Given the description of an element on the screen output the (x, y) to click on. 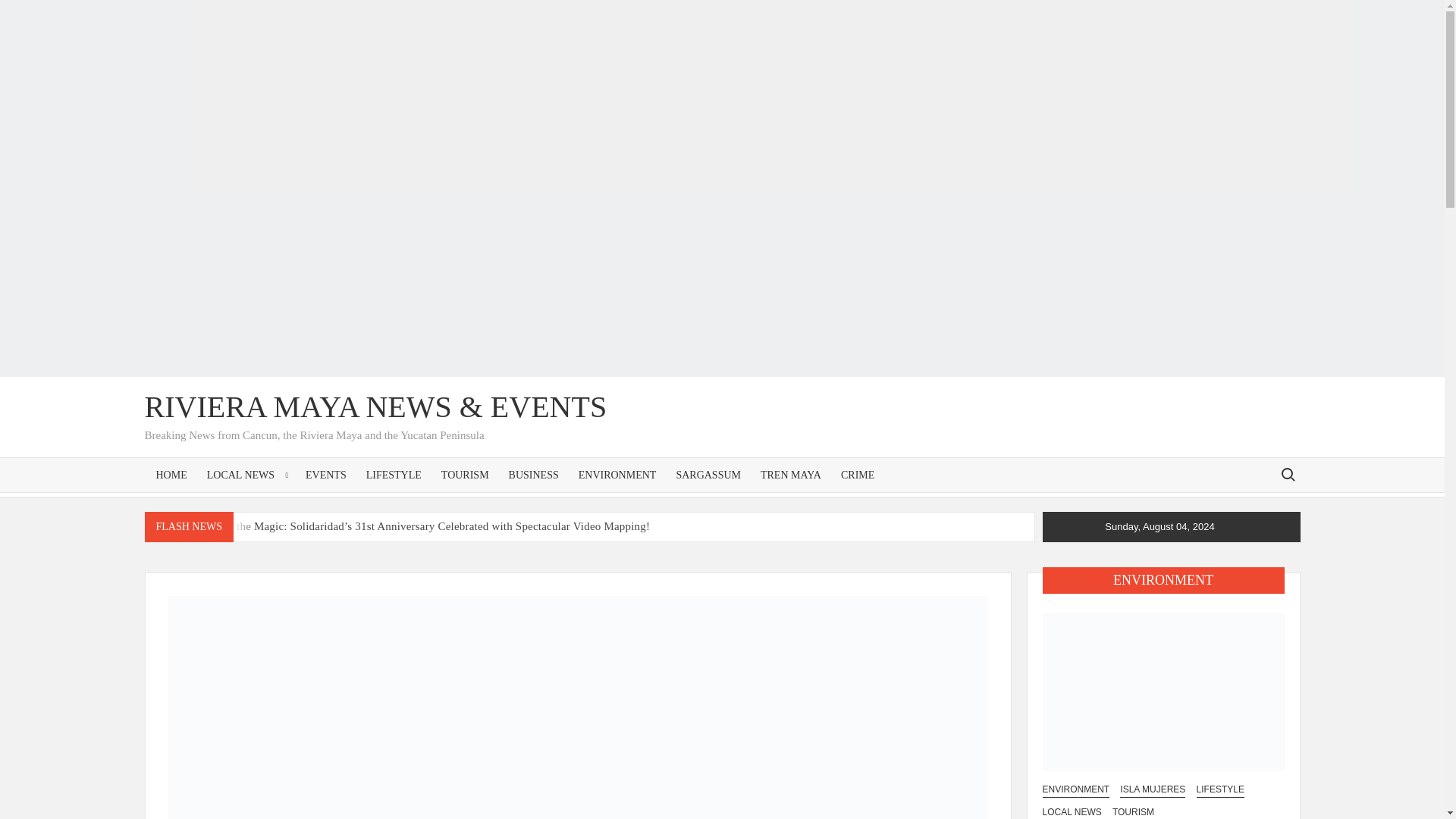
HOME (171, 474)
LOCAL NEWS (246, 474)
